Given the description of an element on the screen output the (x, y) to click on. 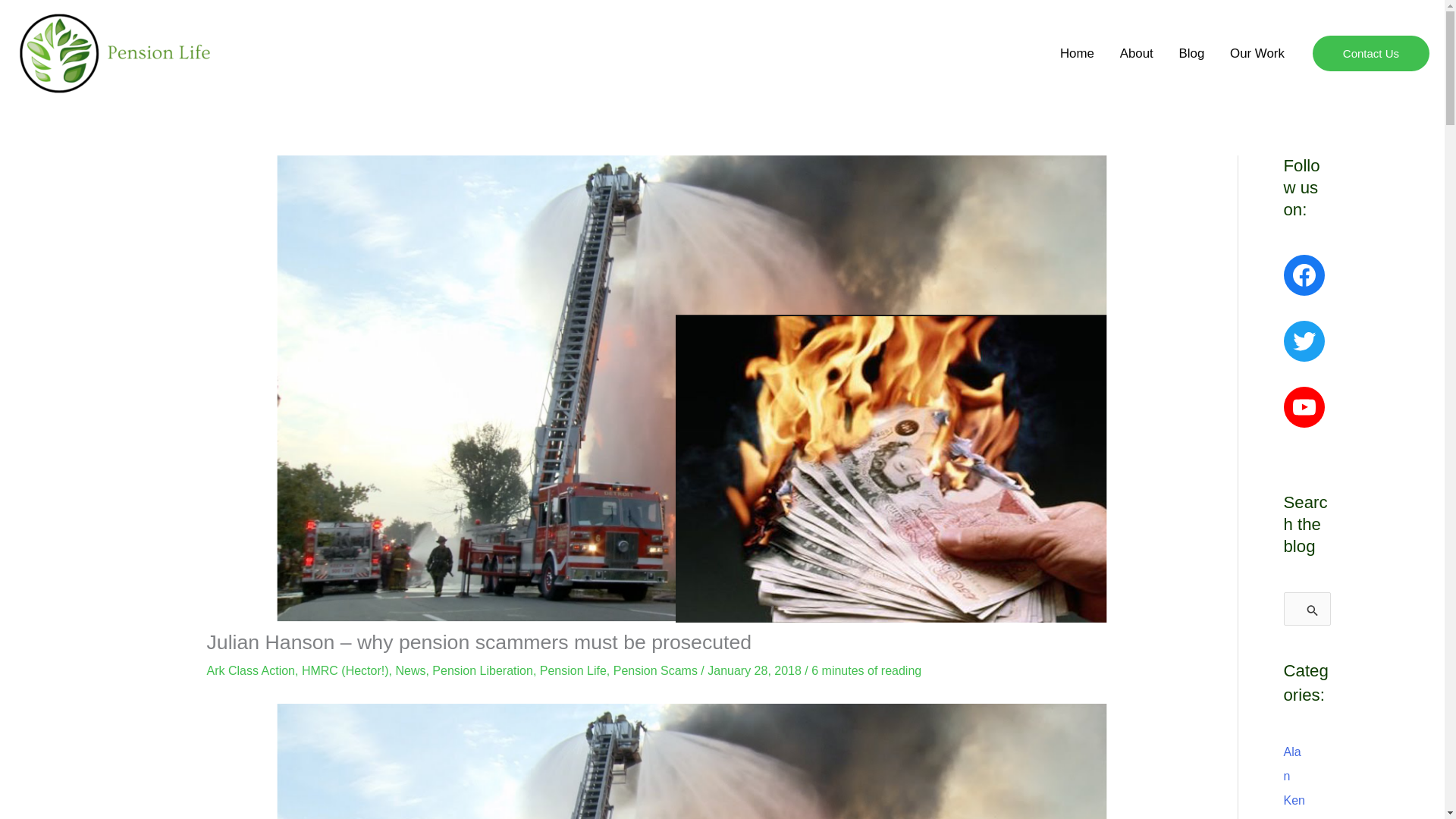
Ark Class Action (250, 670)
Contact Us (1371, 54)
Our Work (1257, 52)
Pension Scams (654, 670)
Pension Liberation (482, 670)
Pension Life (573, 670)
News (409, 670)
